Given the description of an element on the screen output the (x, y) to click on. 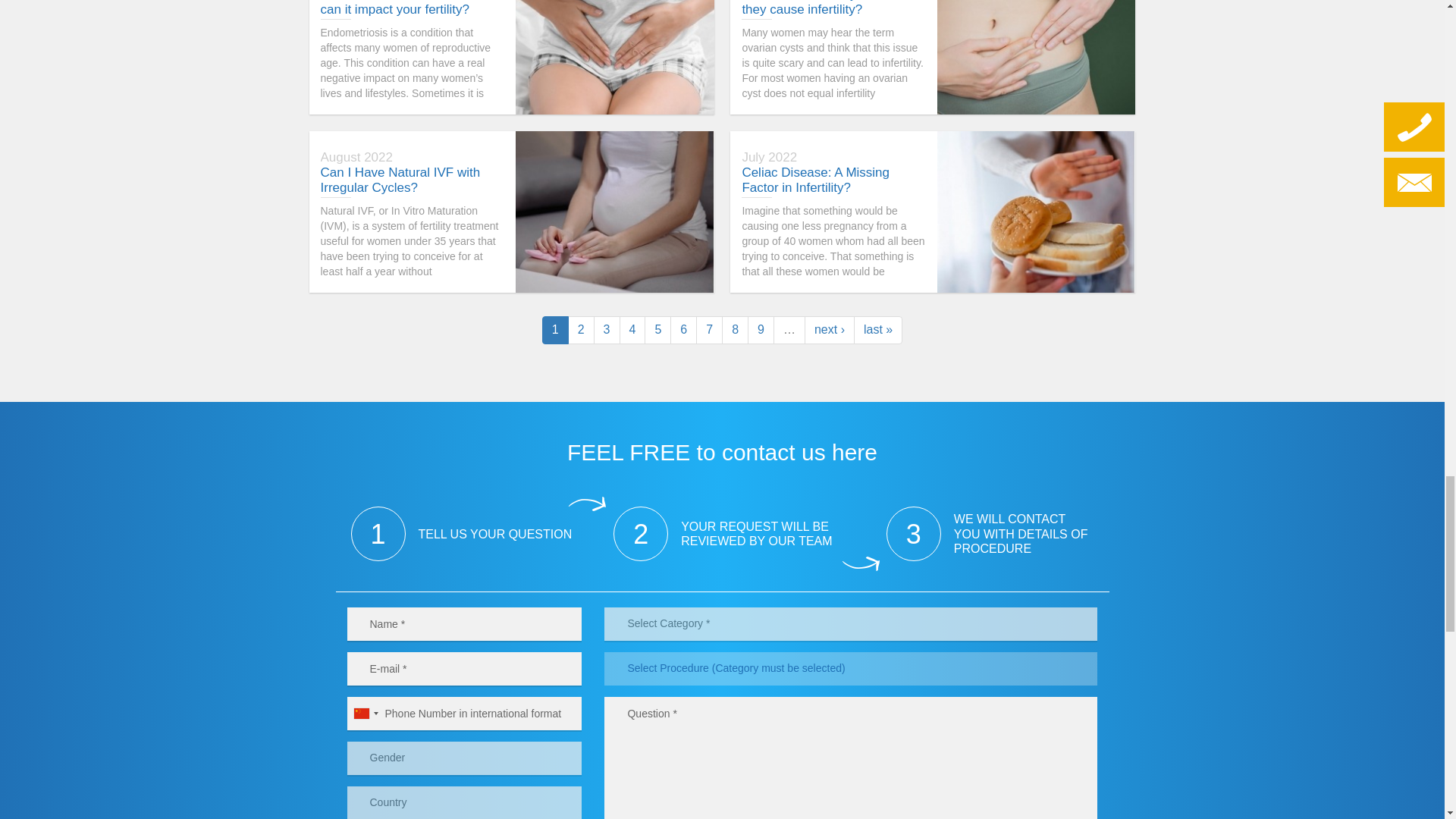
ovarian cysts (1036, 57)
Natural IVF with Irregular Cycles (614, 211)
Celiac Disease (1036, 211)
Go to page 2 (580, 329)
Go to page 3 (607, 329)
What is Endometriosis (614, 57)
